Given the description of an element on the screen output the (x, y) to click on. 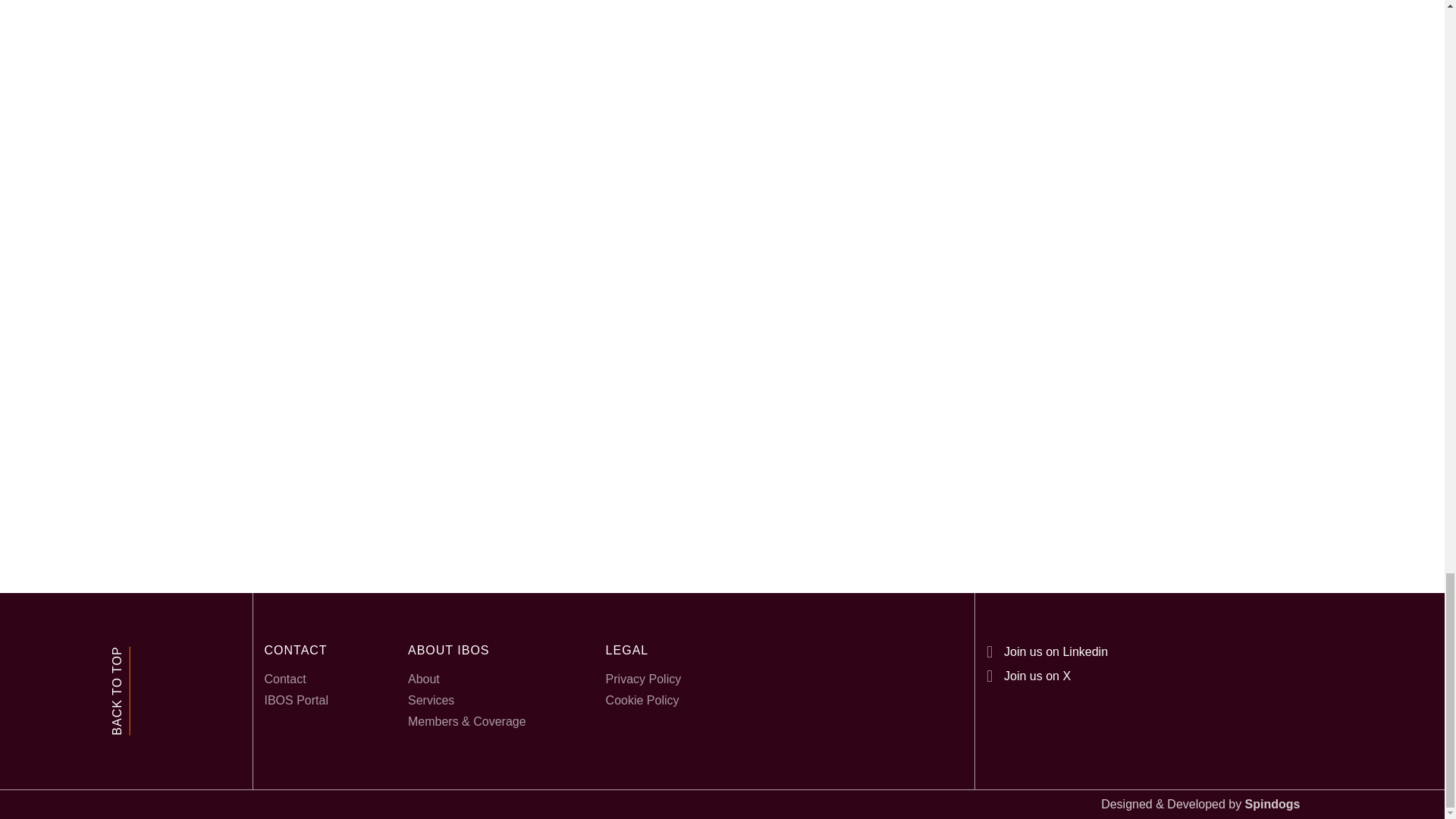
CONTACT (295, 649)
Privacy Policy (643, 679)
LEGAL (643, 649)
Cookie Policy (643, 700)
IBOS Portal (295, 700)
Contact (295, 679)
ABOUT IBOS (466, 649)
Services (466, 700)
BACK TO TOP (154, 655)
Join us on X (1028, 675)
Join us on Linkedin (1047, 651)
BACK TO TOP (154, 655)
BACK TO TOP (120, 690)
About (466, 679)
